Given the description of an element on the screen output the (x, y) to click on. 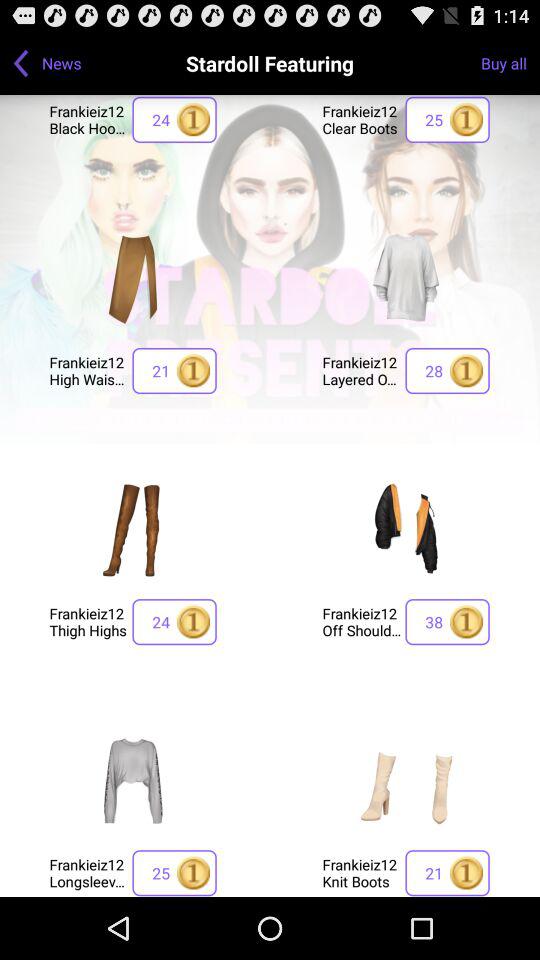
go to back (21, 63)
